Given the description of an element on the screen output the (x, y) to click on. 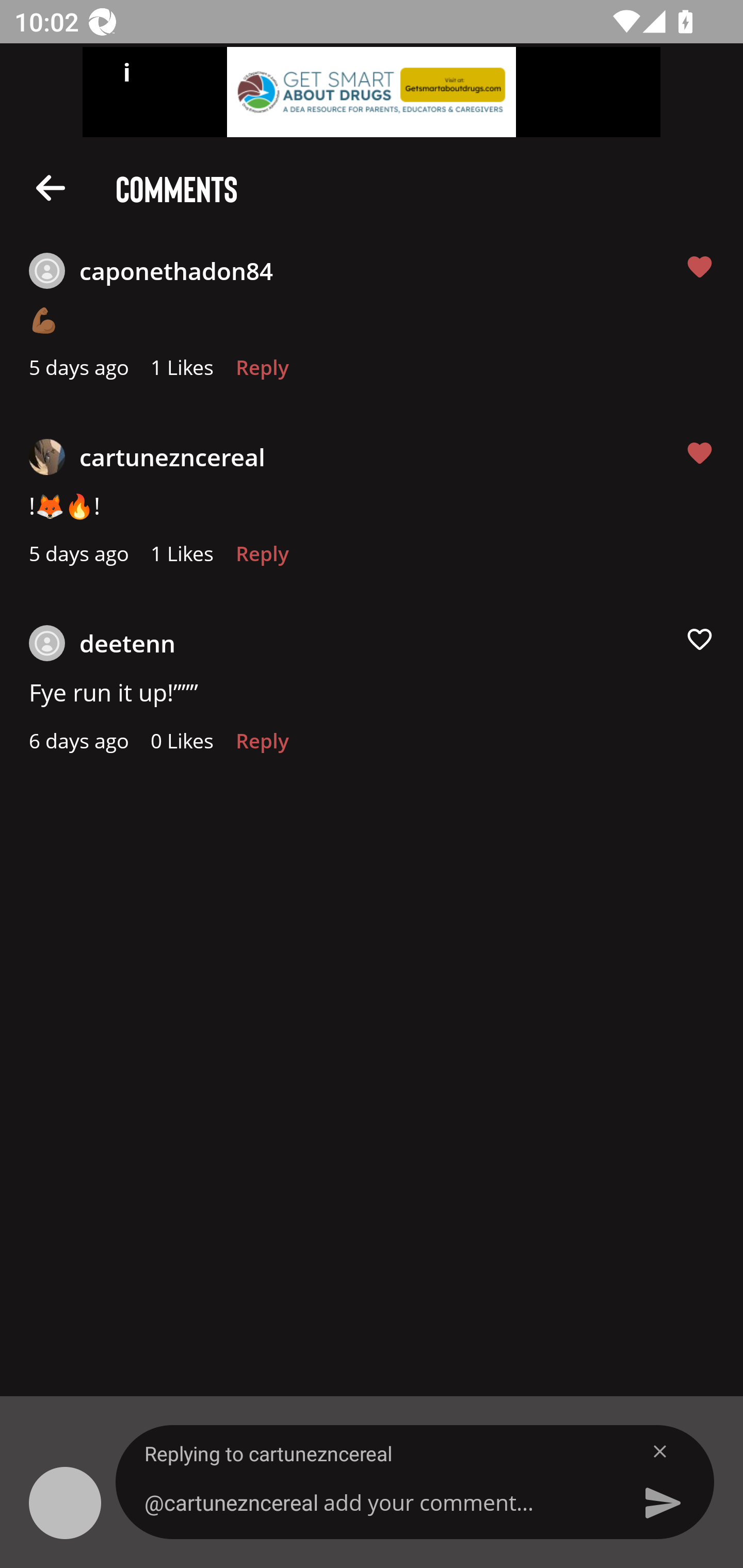
Description (50, 187)
Reply (261, 372)
Reply (261, 558)
Reply (261, 746)
add your comment… (378, 1502)
